Given the description of an element on the screen output the (x, y) to click on. 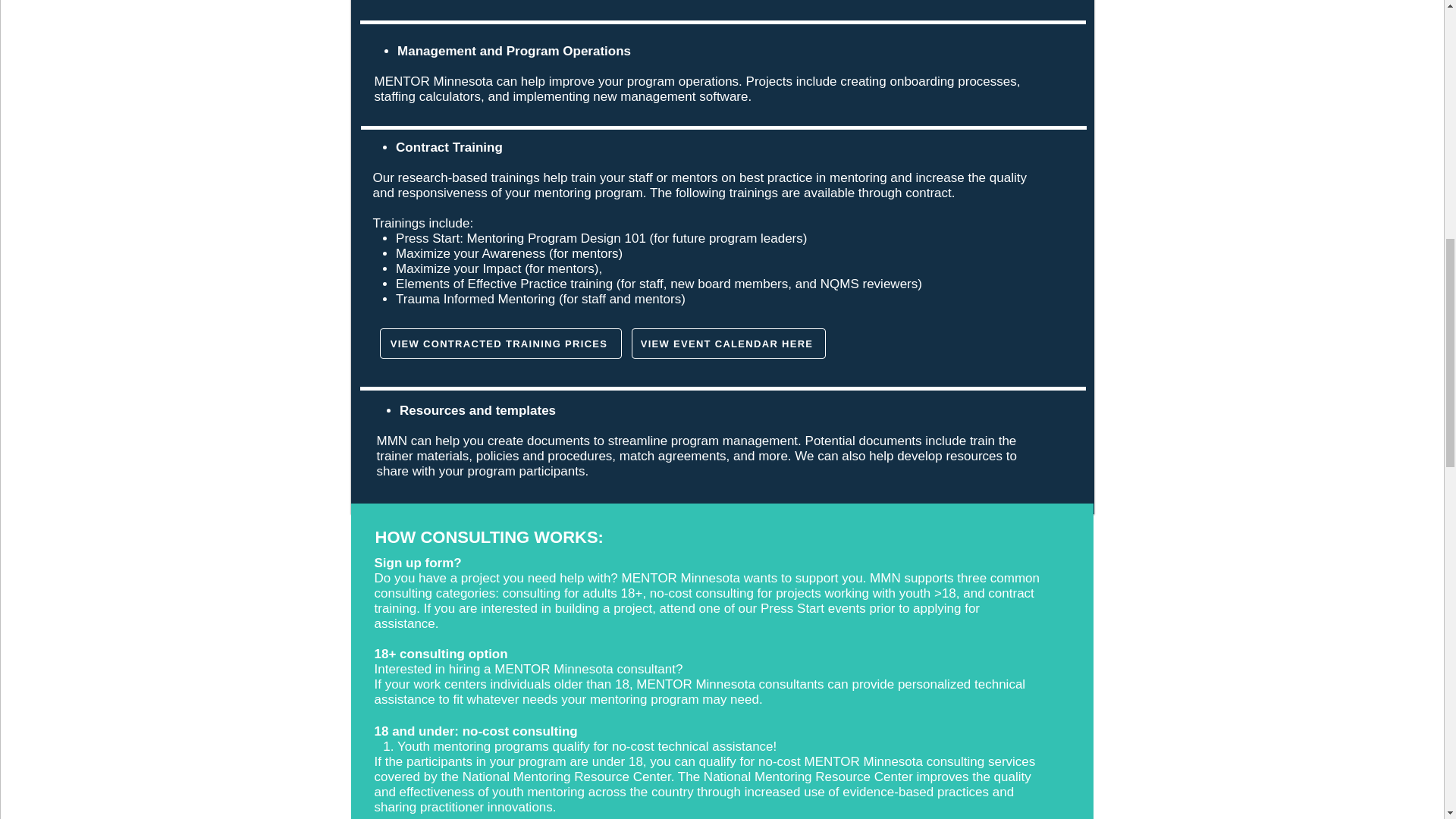
VIEW EVENT CALENDAR HERE (727, 343)
VIEW CONTRACTED TRAINING PRICES (499, 343)
